Given the description of an element on the screen output the (x, y) to click on. 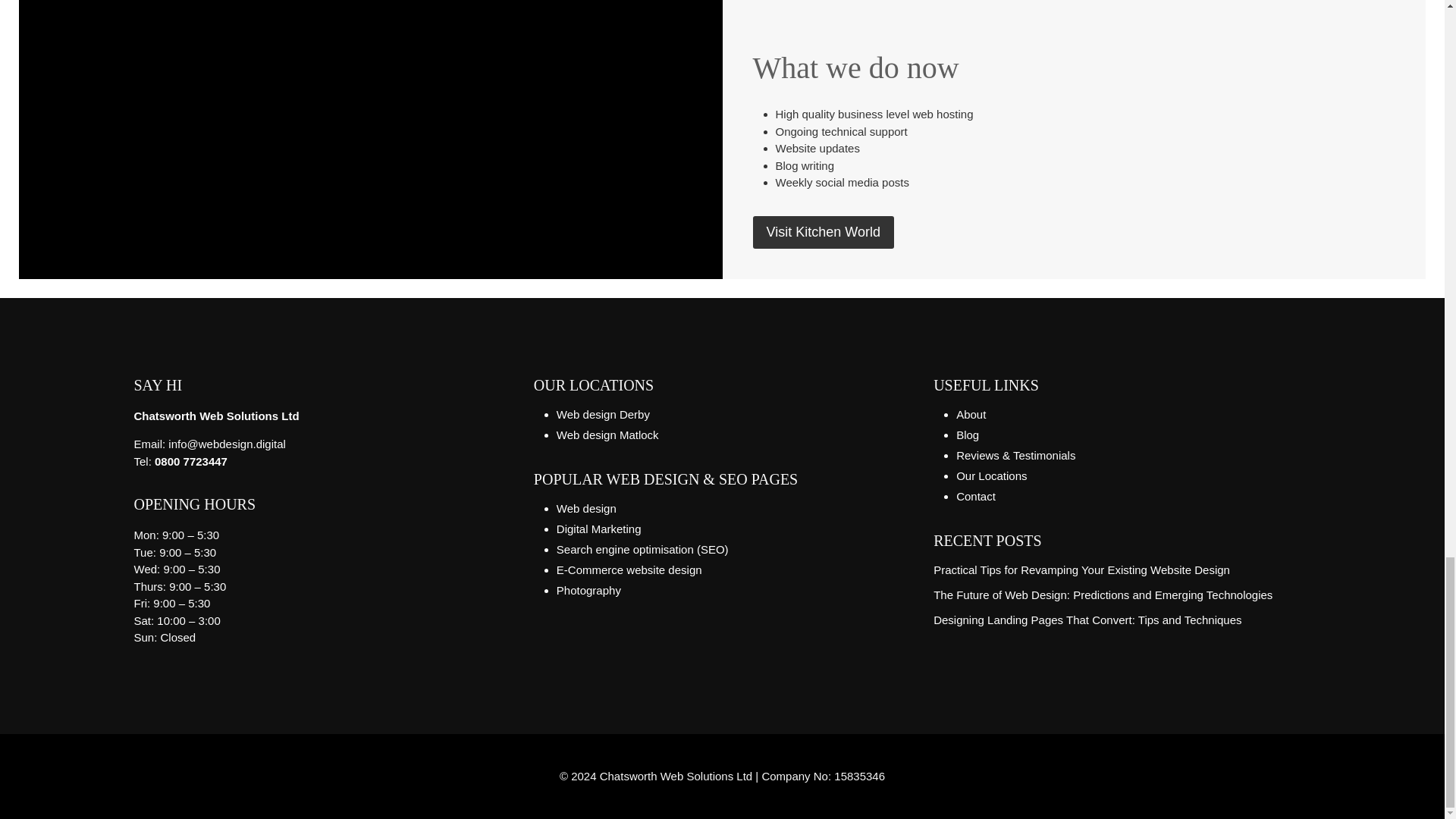
0800 7723447 (190, 461)
Visit Kitchen World (822, 232)
Web design Derby (602, 413)
